Given the description of an element on the screen output the (x, y) to click on. 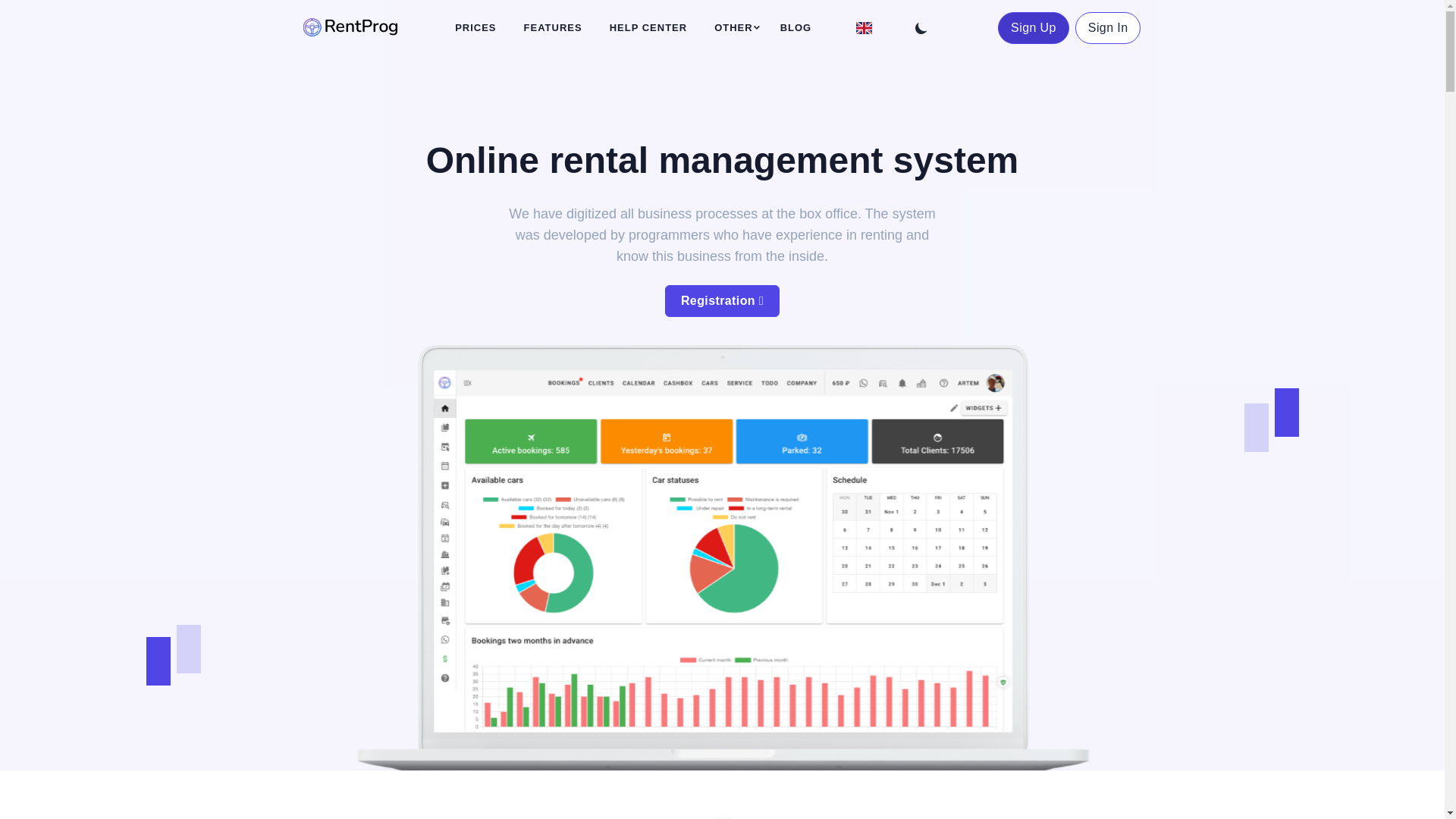
Sign Up (1032, 28)
HELP CENTER (649, 28)
FEATURES (553, 28)
Sign In (1108, 28)
Registration (721, 300)
PRICES (475, 28)
OTHER (732, 28)
